Given the description of an element on the screen output the (x, y) to click on. 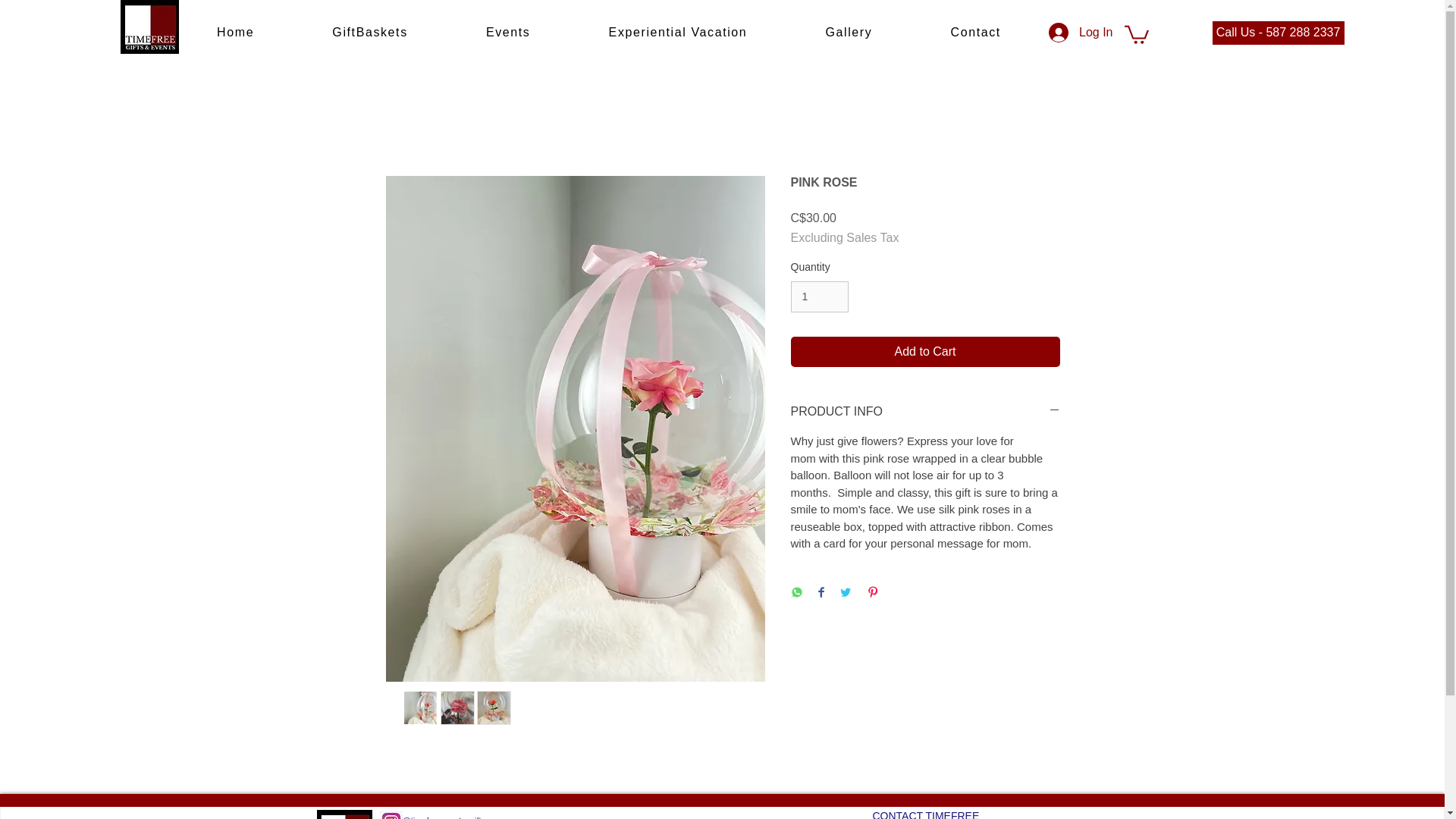
Events (507, 33)
Contact (975, 33)
Log In (1080, 32)
GiftBaskets (370, 33)
Home (234, 33)
Call Us - 587 288 2337 (1277, 33)
Experiential Vacation (677, 33)
Gallery (848, 33)
1 (818, 296)
